Given the description of an element on the screen output the (x, y) to click on. 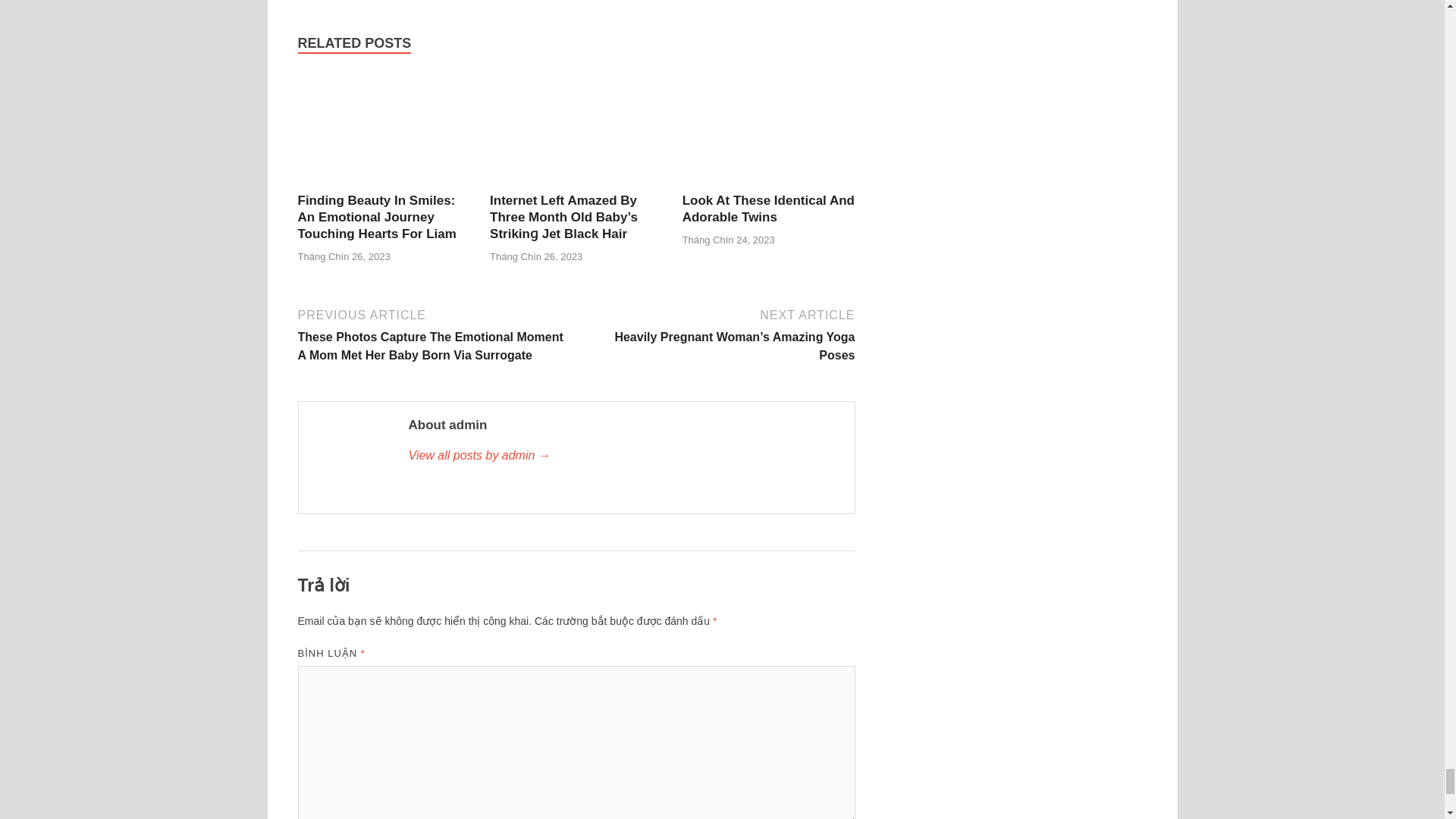
Look At These Identical And Adorable Twins (768, 208)
admin (622, 455)
Look At These Identical And Adorable Twins (769, 182)
